Given the description of an element on the screen output the (x, y) to click on. 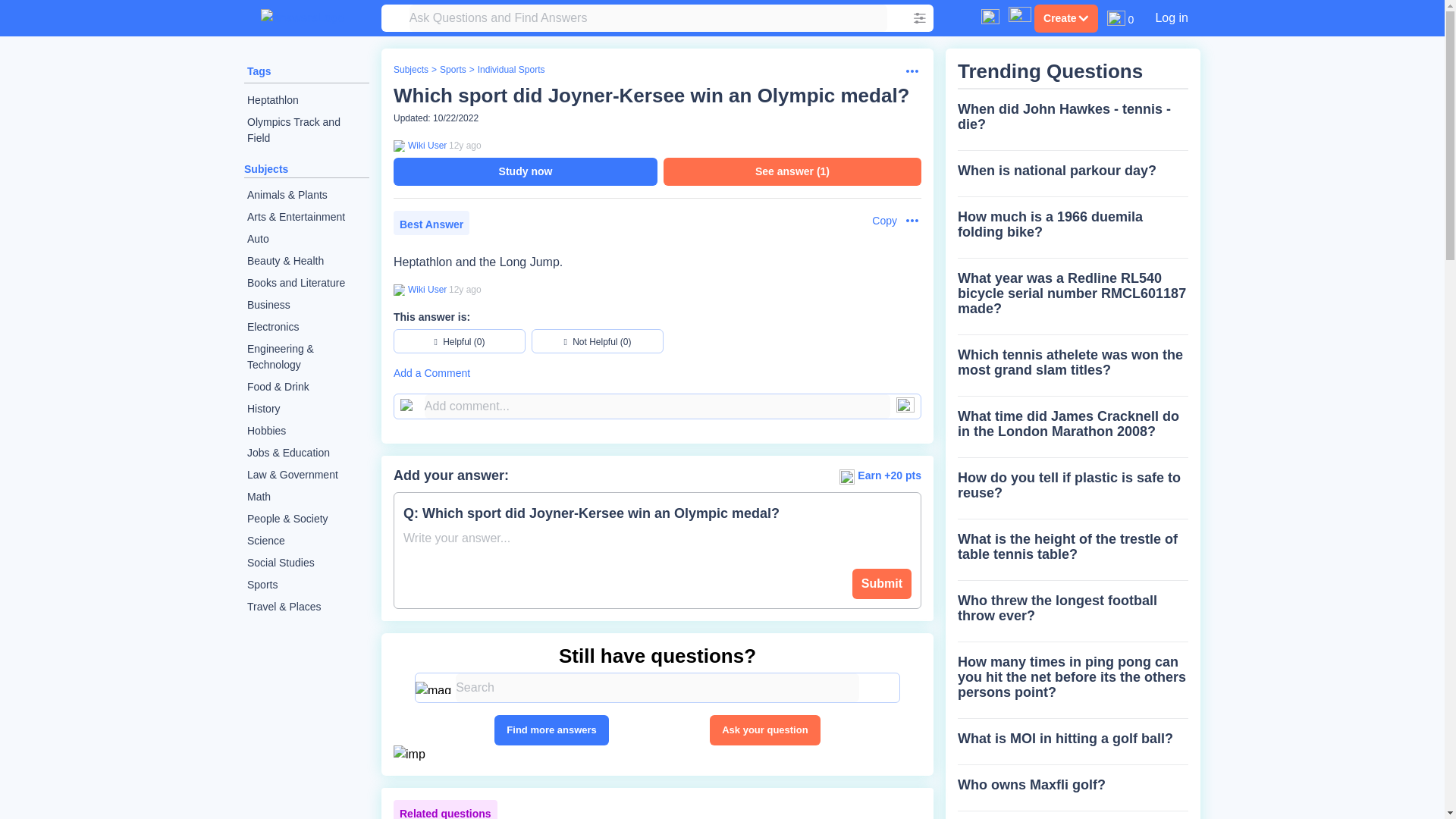
Copy (876, 220)
Math (306, 496)
2012-05-31 19:08:32 (464, 145)
Olympics Track and Field (306, 130)
Subjects (266, 168)
Social Studies (306, 563)
Sports (452, 69)
History (306, 409)
Books and Literature (306, 282)
Study now (525, 171)
